Given the description of an element on the screen output the (x, y) to click on. 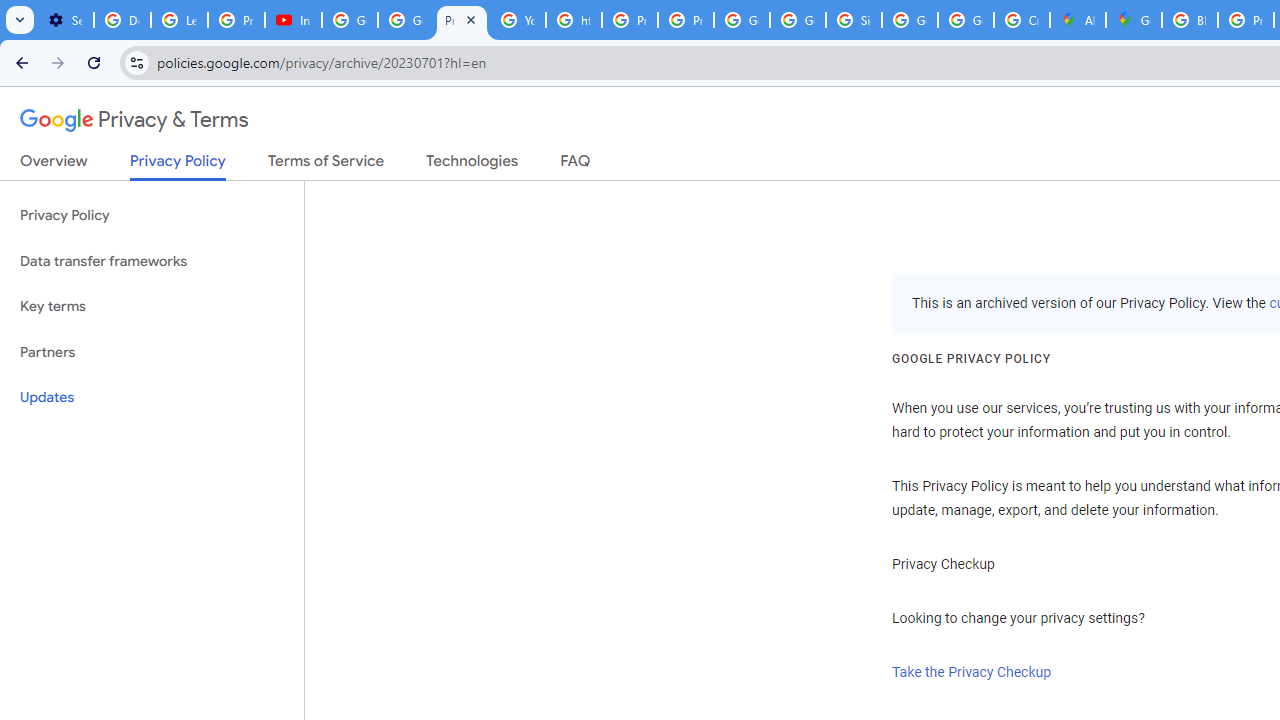
Learn how to find your photos - Google Photos Help (179, 20)
https://scholar.google.com/ (573, 20)
Settings - Customize profile (65, 20)
Data transfer frameworks (152, 261)
